Given the description of an element on the screen output the (x, y) to click on. 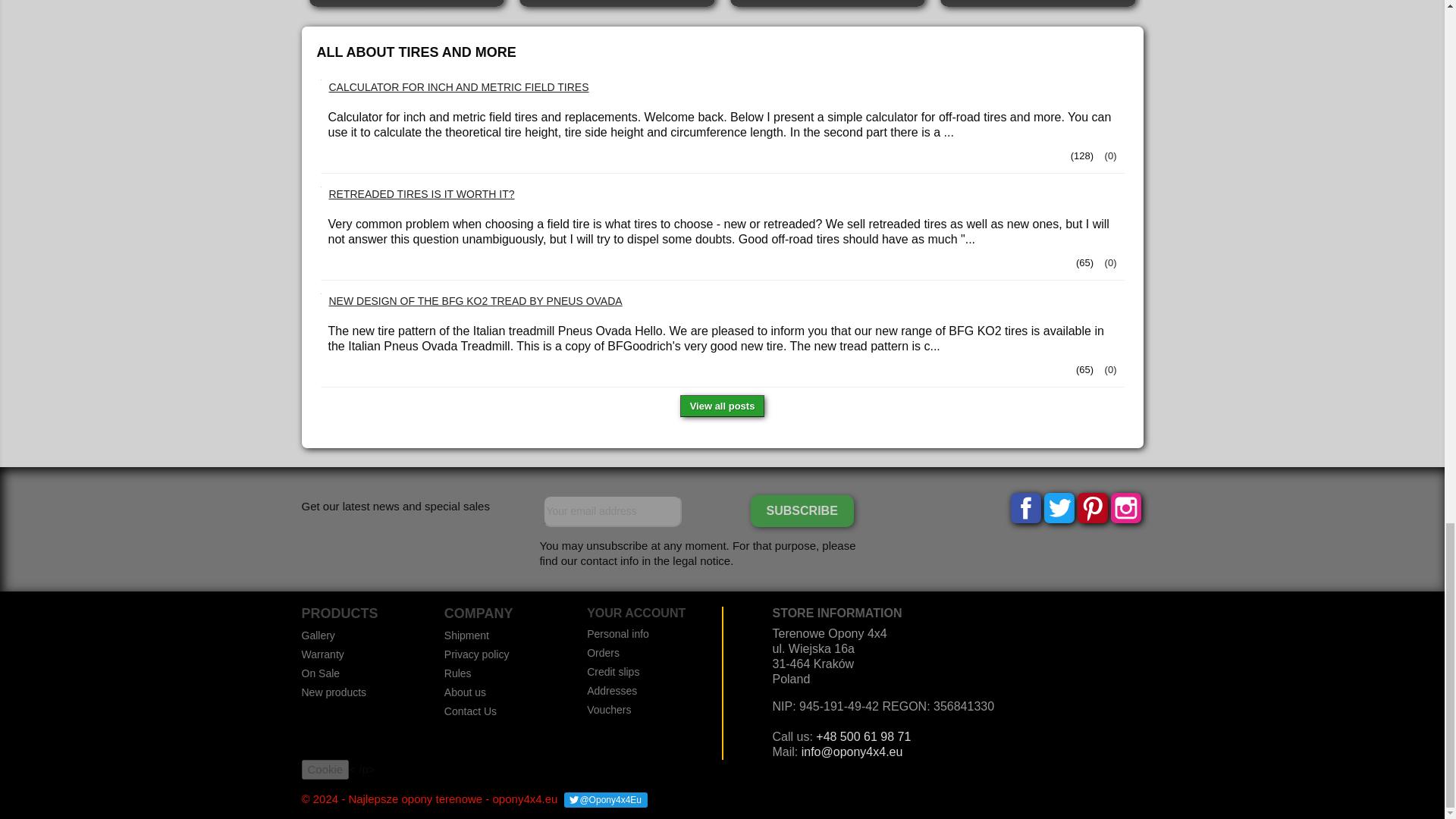
Calculator for inch and metric field tires (1109, 155)
Calculator for inch and metric field tires (459, 87)
Retreaded tires is it worth it? (422, 195)
Retreaded tires is it worth it? (1109, 262)
Subscribe (802, 511)
New design of the BFG KO2 tread by Pneus Ovada (476, 302)
New design of the BFG KO2 tread by Pneus Ovada (1109, 369)
